Given the description of an element on the screen output the (x, y) to click on. 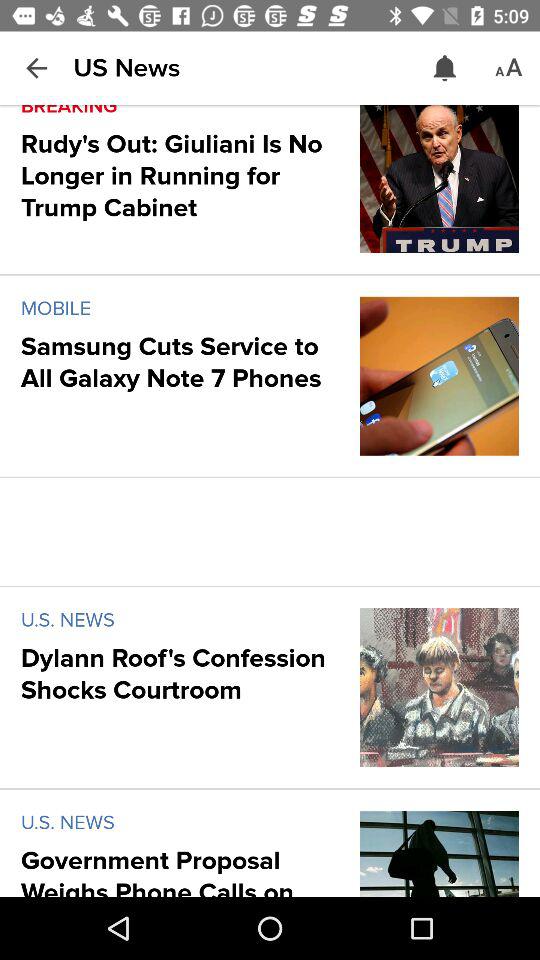
launch icon next to the us news item (444, 67)
